Given the description of an element on the screen output the (x, y) to click on. 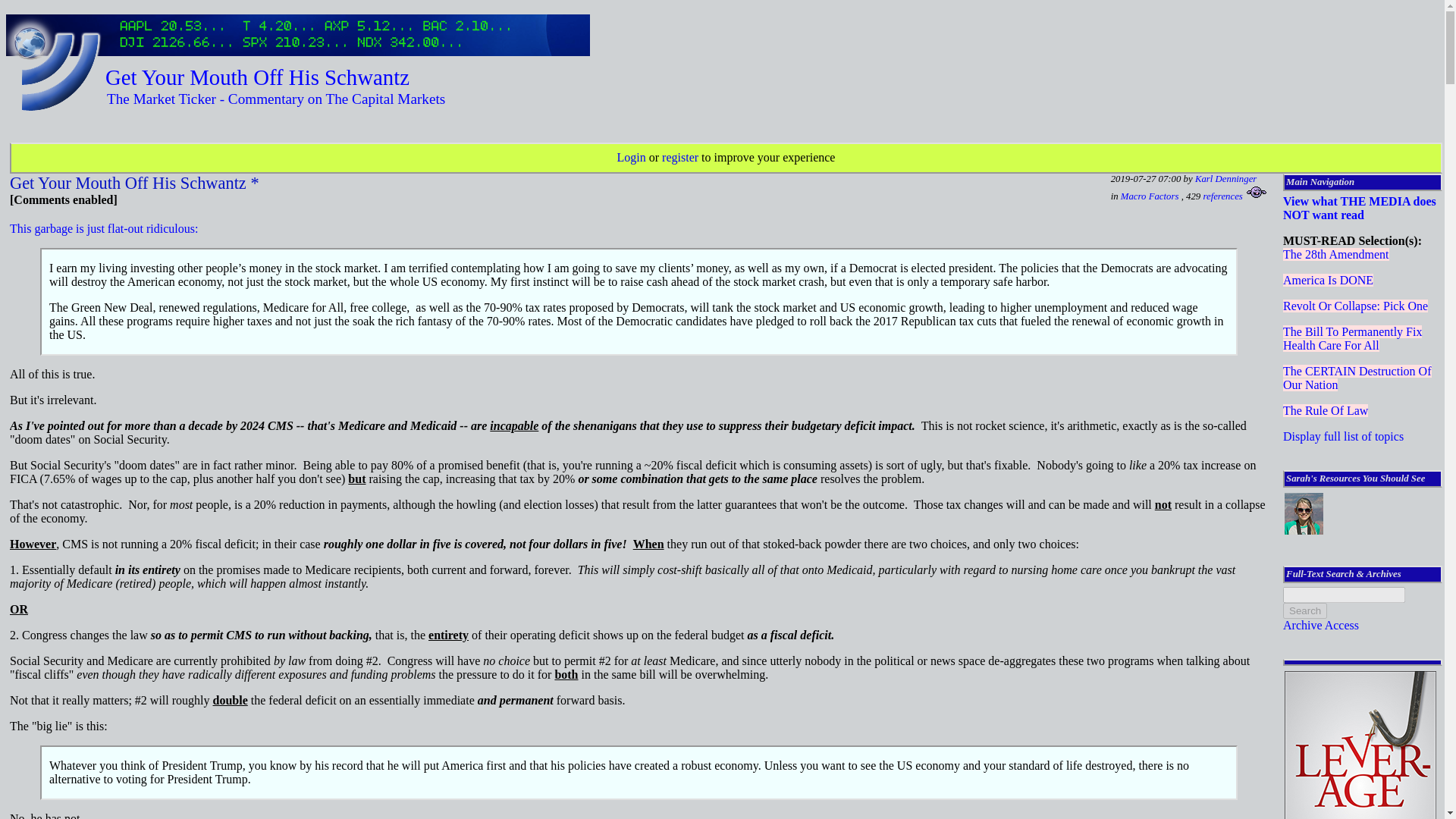
Archive Access (1320, 625)
Ignore This Ticker (1256, 192)
Click to limit display to this category (1150, 195)
references (1221, 195)
Revolt Or Collapse: Pick One (1355, 305)
register (680, 156)
Search (1304, 610)
The 28th Amendment (1335, 254)
Send an email to the author (1225, 178)
Macro Factors (1150, 195)
Display the full blog format (275, 98)
America Is DONE (1327, 279)
The Rule Of Law (1325, 410)
Sarah's Blog (1303, 531)
